Given the description of an element on the screen output the (x, y) to click on. 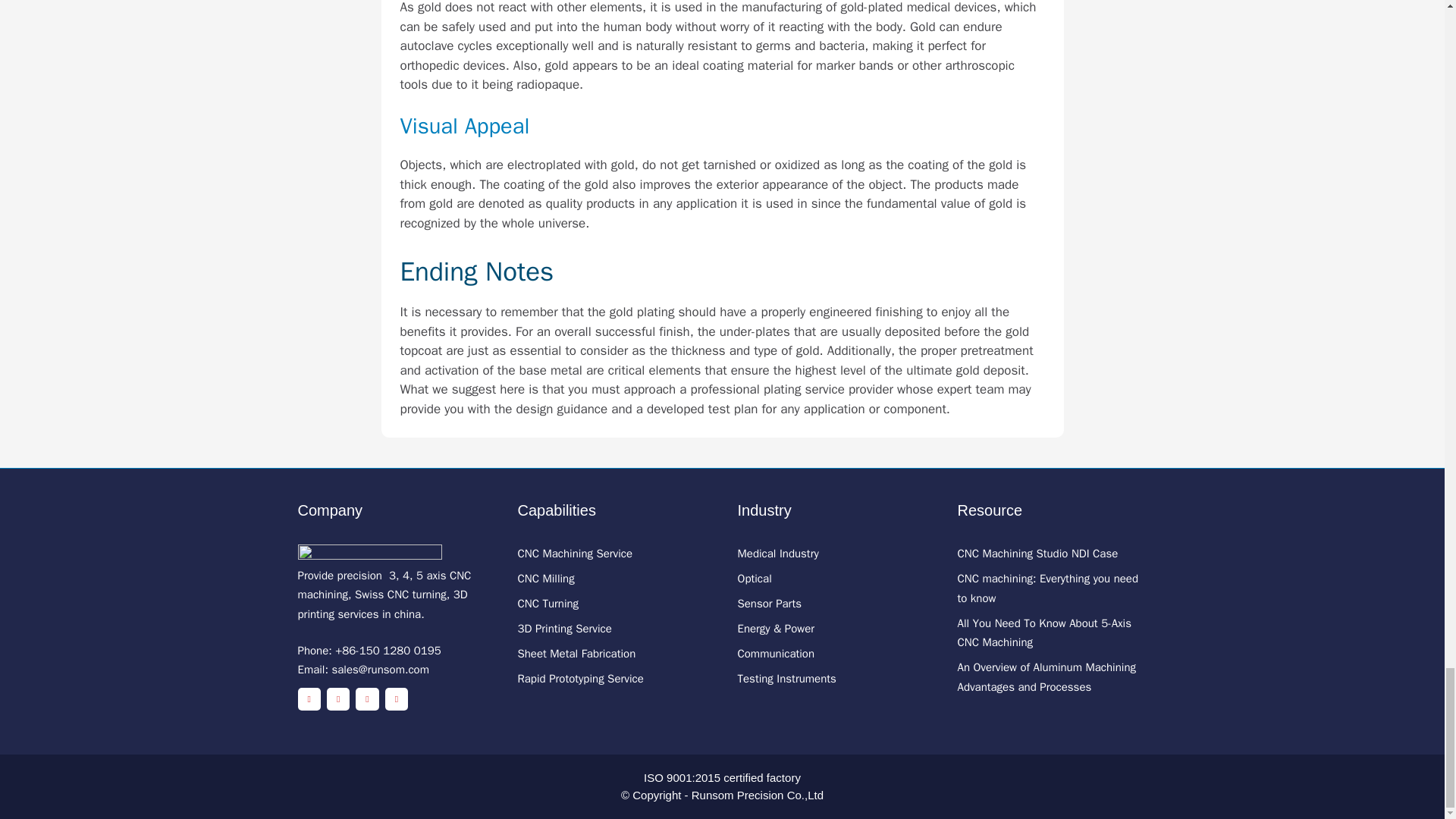
YouTube (366, 698)
Facebook (337, 698)
LinkedIn (396, 698)
Twitter (308, 698)
